Given the description of an element on the screen output the (x, y) to click on. 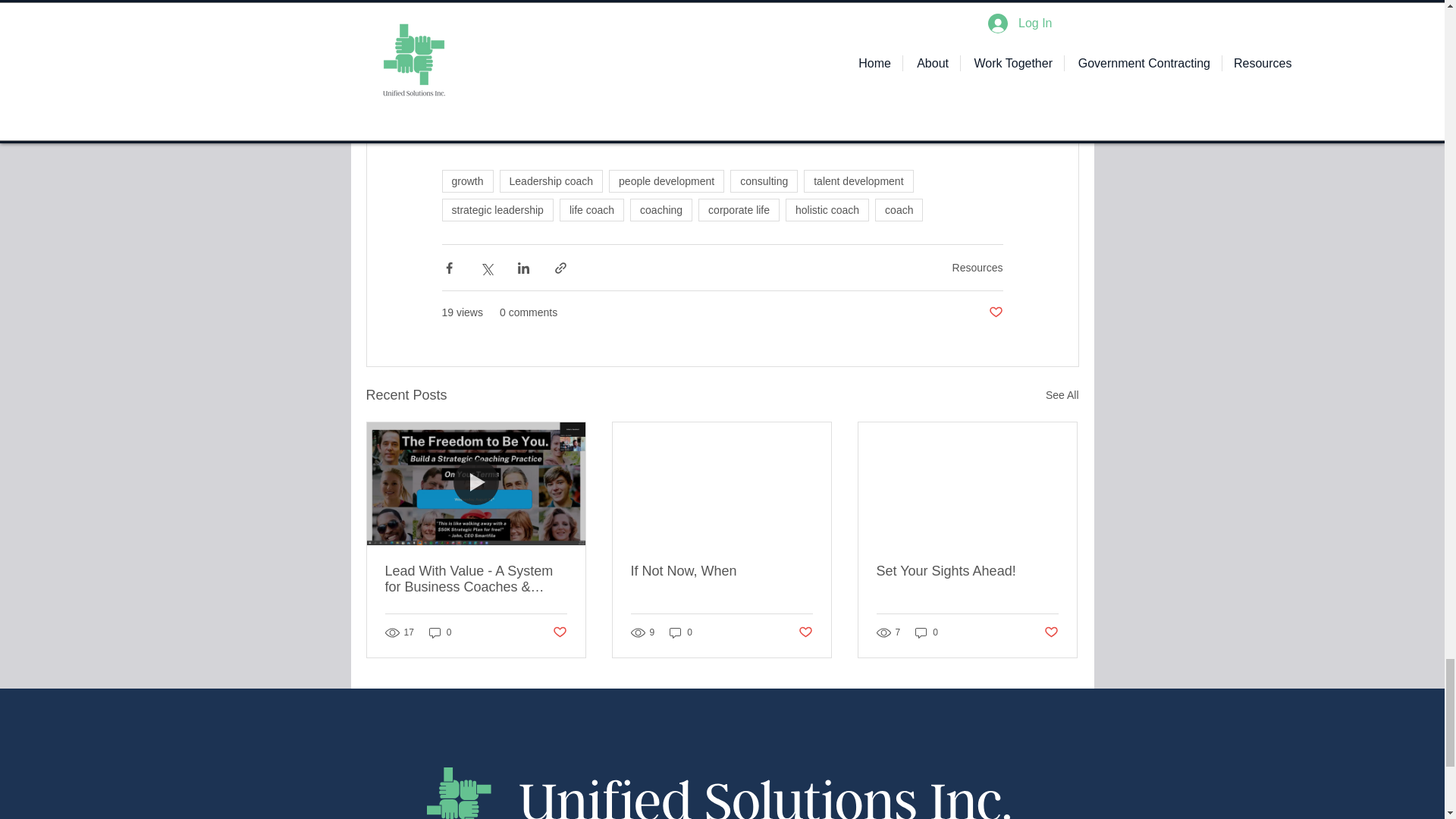
holistic coach (827, 210)
talent development (857, 180)
Leadership coach (551, 180)
consulting (763, 180)
coaching (661, 210)
corporate life (738, 210)
life coach (591, 210)
people development (665, 180)
growth (467, 180)
coach (899, 210)
